Given the description of an element on the screen output the (x, y) to click on. 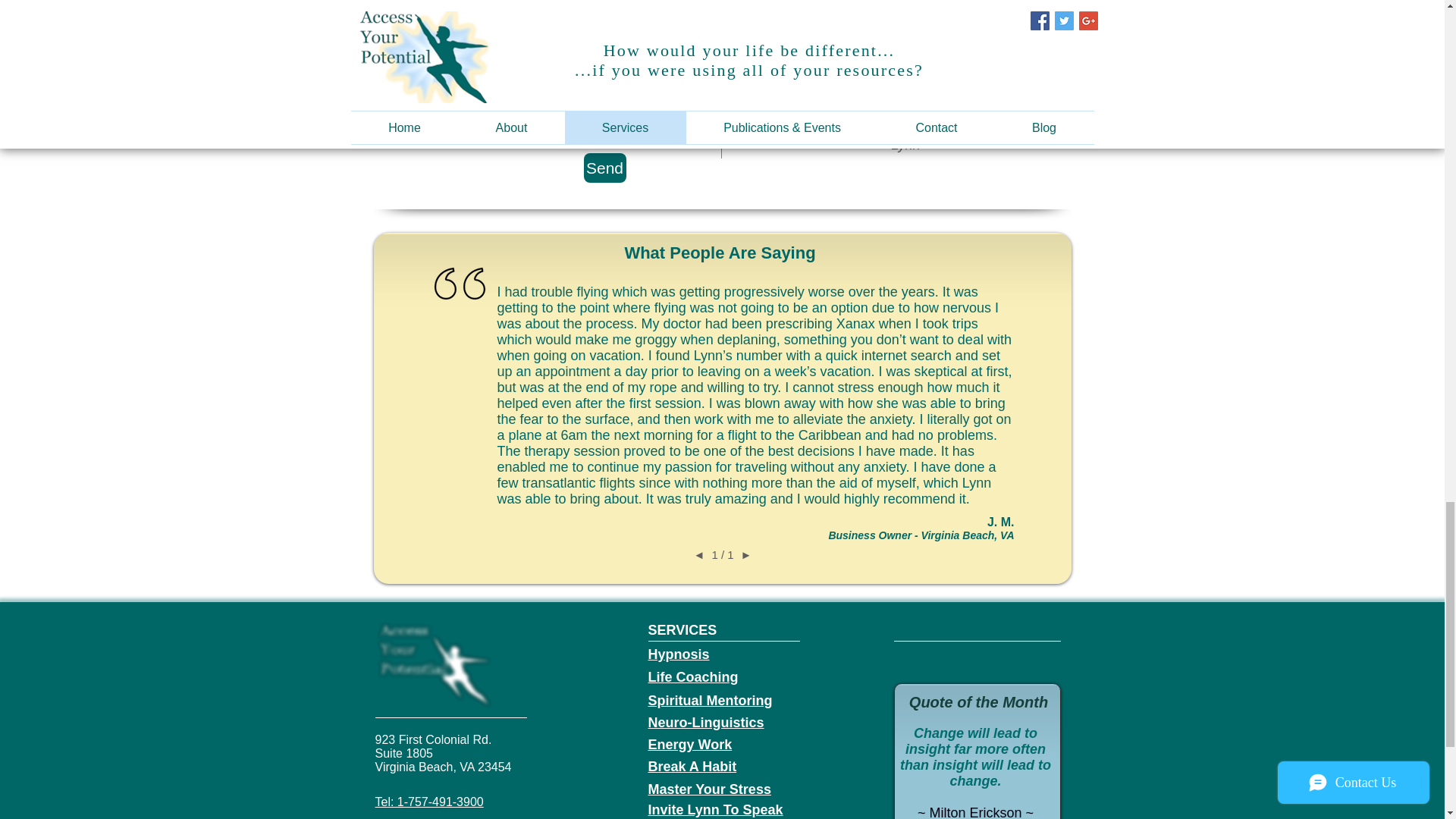
Life Coaching (692, 676)
Send (604, 167)
Invite Lynn To Speak (715, 809)
Hypnosis (678, 654)
Energy Work (689, 744)
Master Your Stress (708, 789)
Add Me To Your Email List (904, 47)
Tel: 1-757-491-3900 (428, 801)
Spiritual Mentoring (709, 700)
Neuro-Linguistics (704, 722)
